Given the description of an element on the screen output the (x, y) to click on. 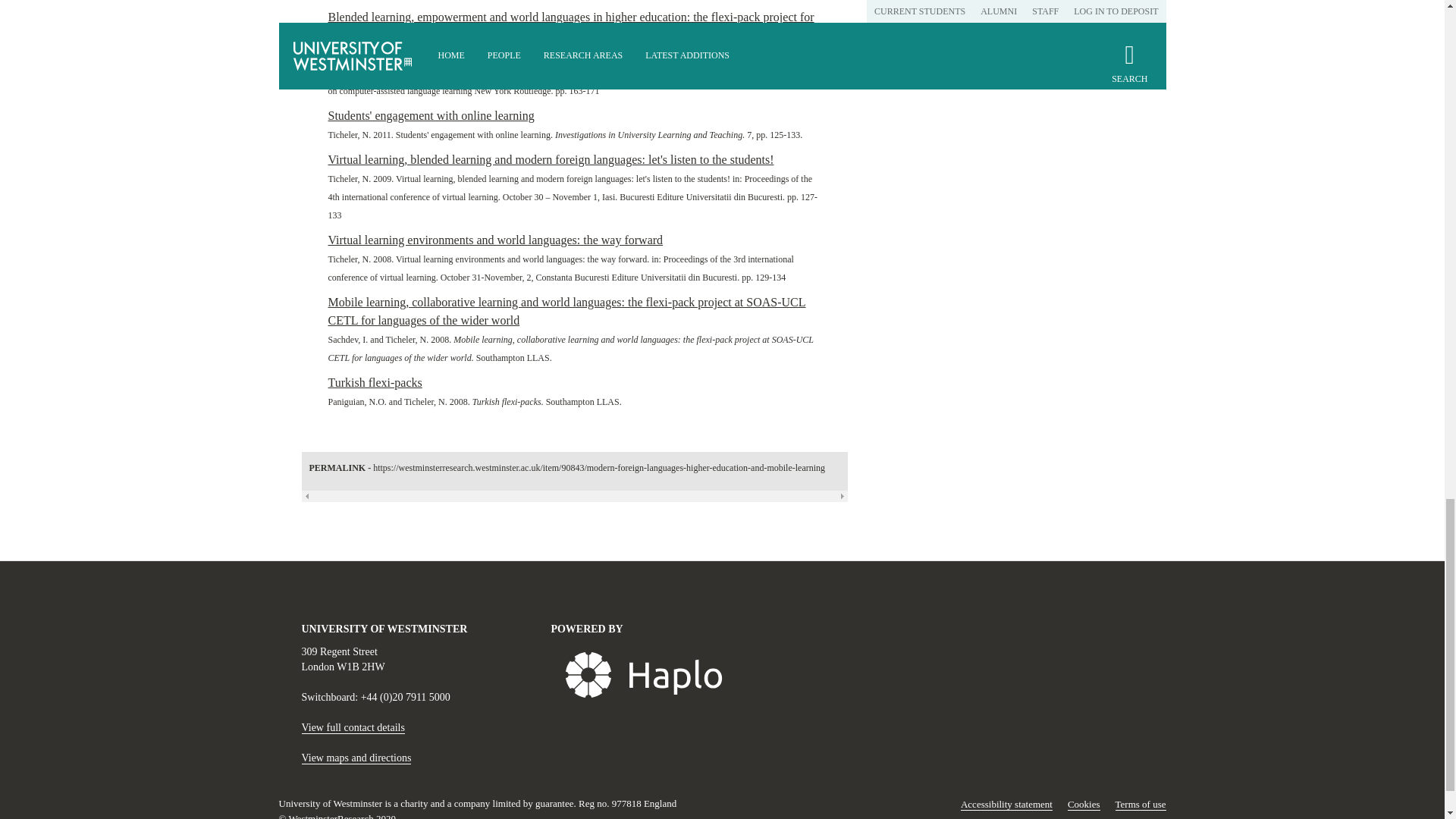
Accessibility statement (1006, 804)
Students' engagement with online learning (430, 115)
Cookies (1083, 804)
Terms of use (1140, 804)
Turkish flexi-packs (374, 382)
View maps and directions (356, 758)
View full contact details (352, 727)
